Given the description of an element on the screen output the (x, y) to click on. 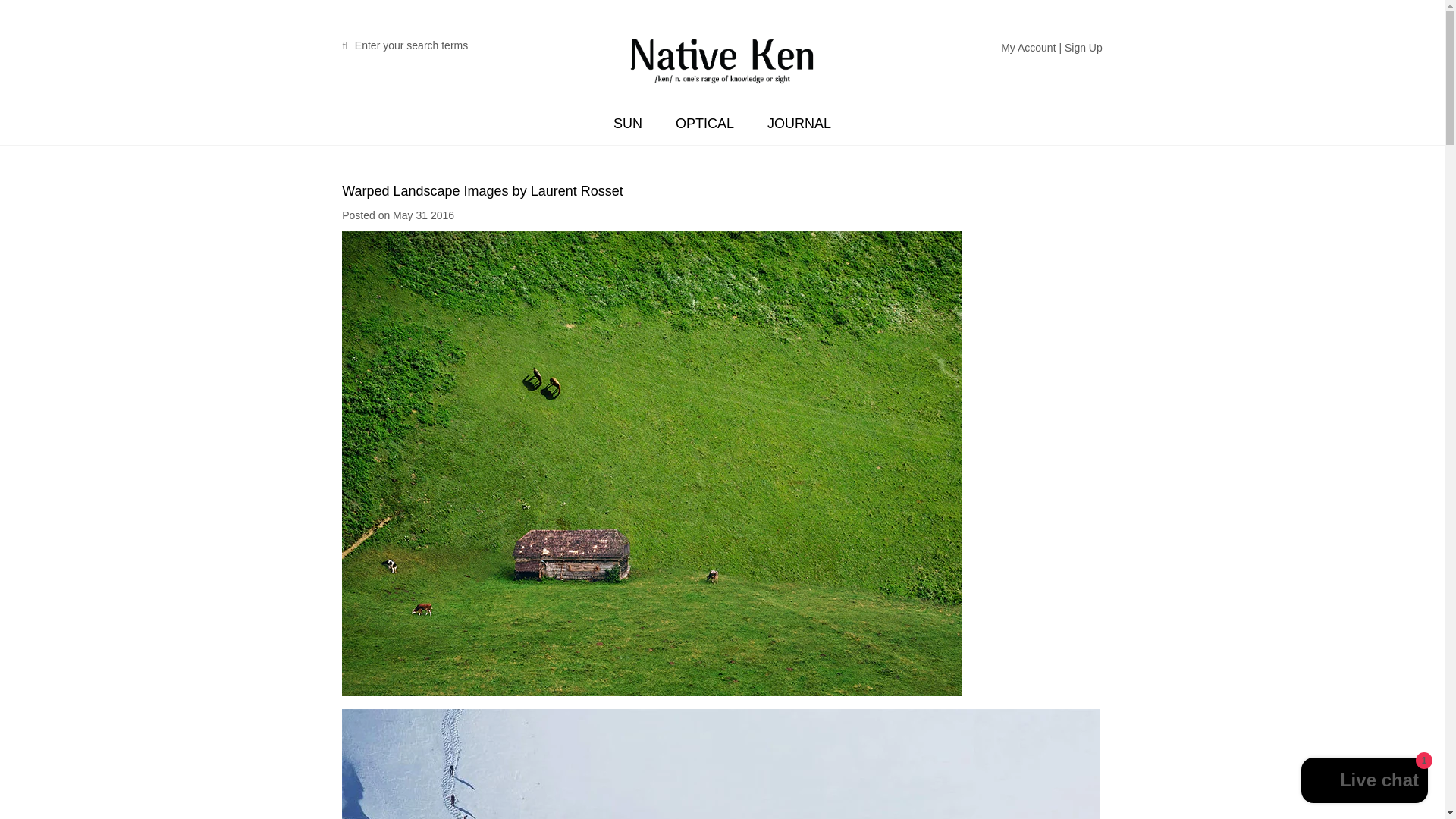
SUN (628, 123)
Shopify online store chat (1364, 781)
JOURNAL (798, 123)
OPTICAL (705, 123)
